Given the description of an element on the screen output the (x, y) to click on. 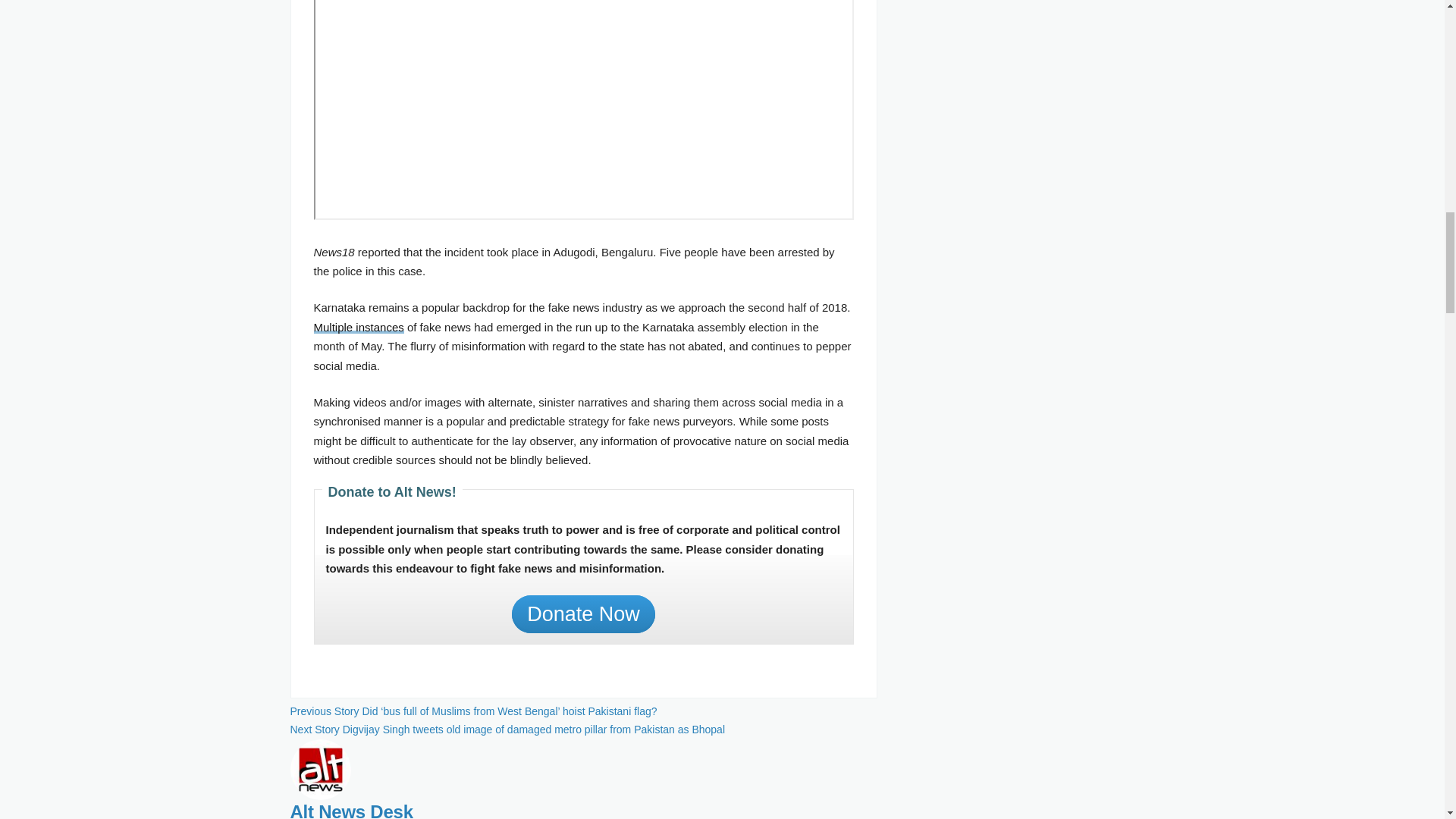
Alt News Desk (350, 810)
YouTube player (583, 110)
Alt News Desk (319, 767)
